Given the description of an element on the screen output the (x, y) to click on. 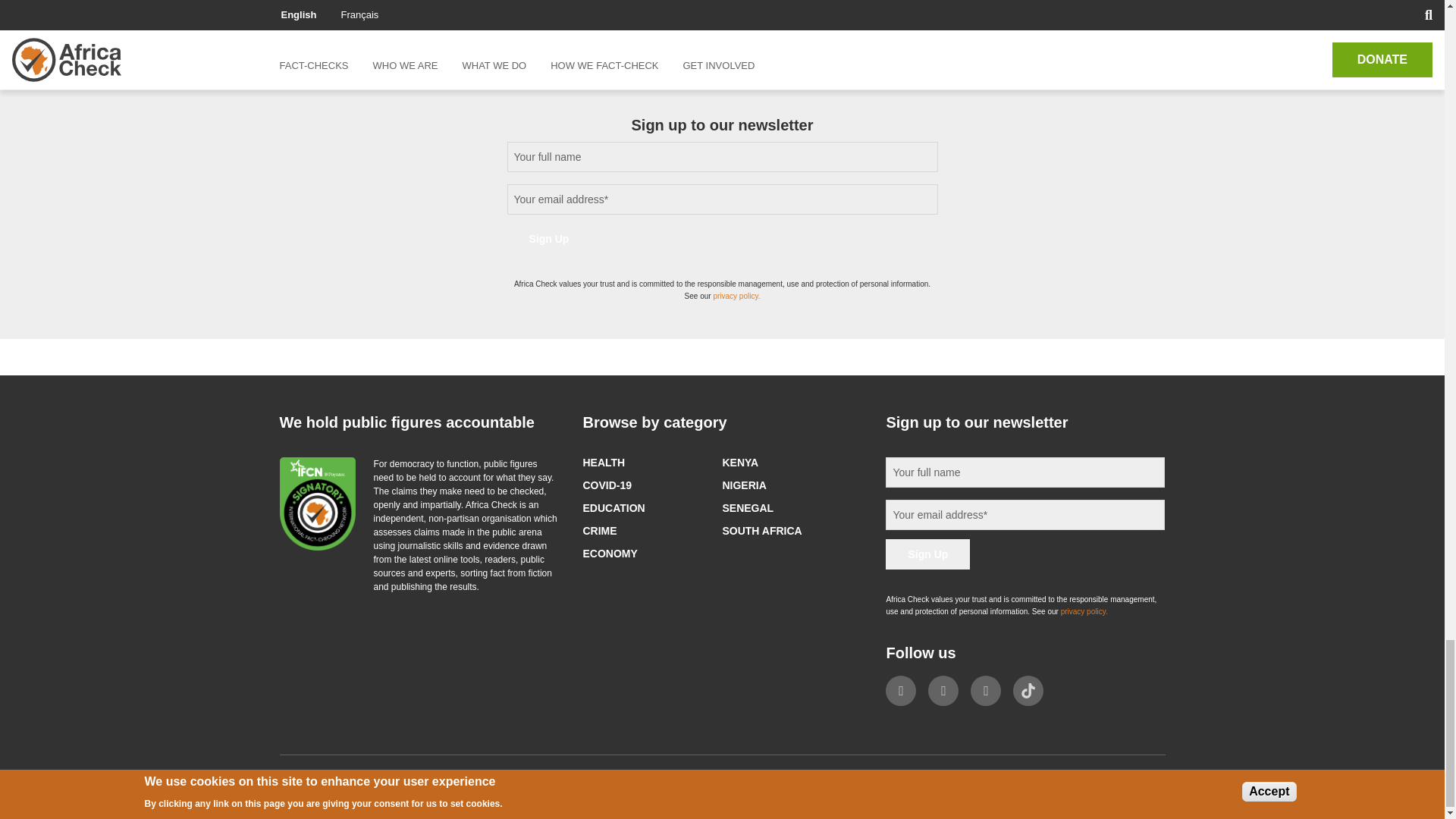
Save (319, 2)
Sign Up (927, 553)
Sign Up (548, 238)
